Given the description of an element on the screen output the (x, y) to click on. 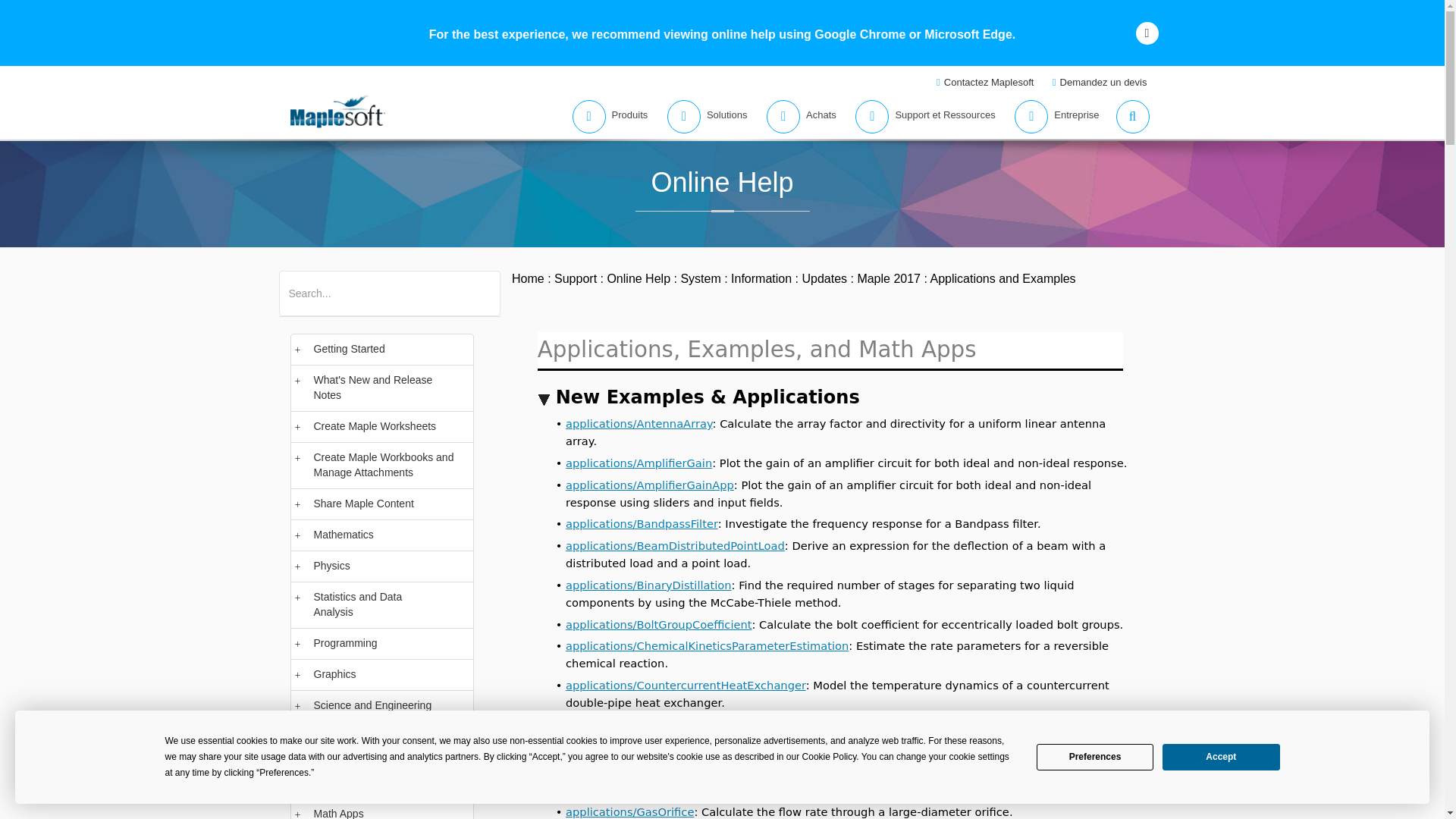
Preferences (1094, 756)
All (294, 284)
Demandez un devis (1102, 81)
Accept (1220, 756)
MapleSim (415, 284)
Produits (604, 116)
Solutions (702, 116)
Maple (367, 284)
Contactez Maplesoft (986, 81)
